Given the description of an element on the screen output the (x, y) to click on. 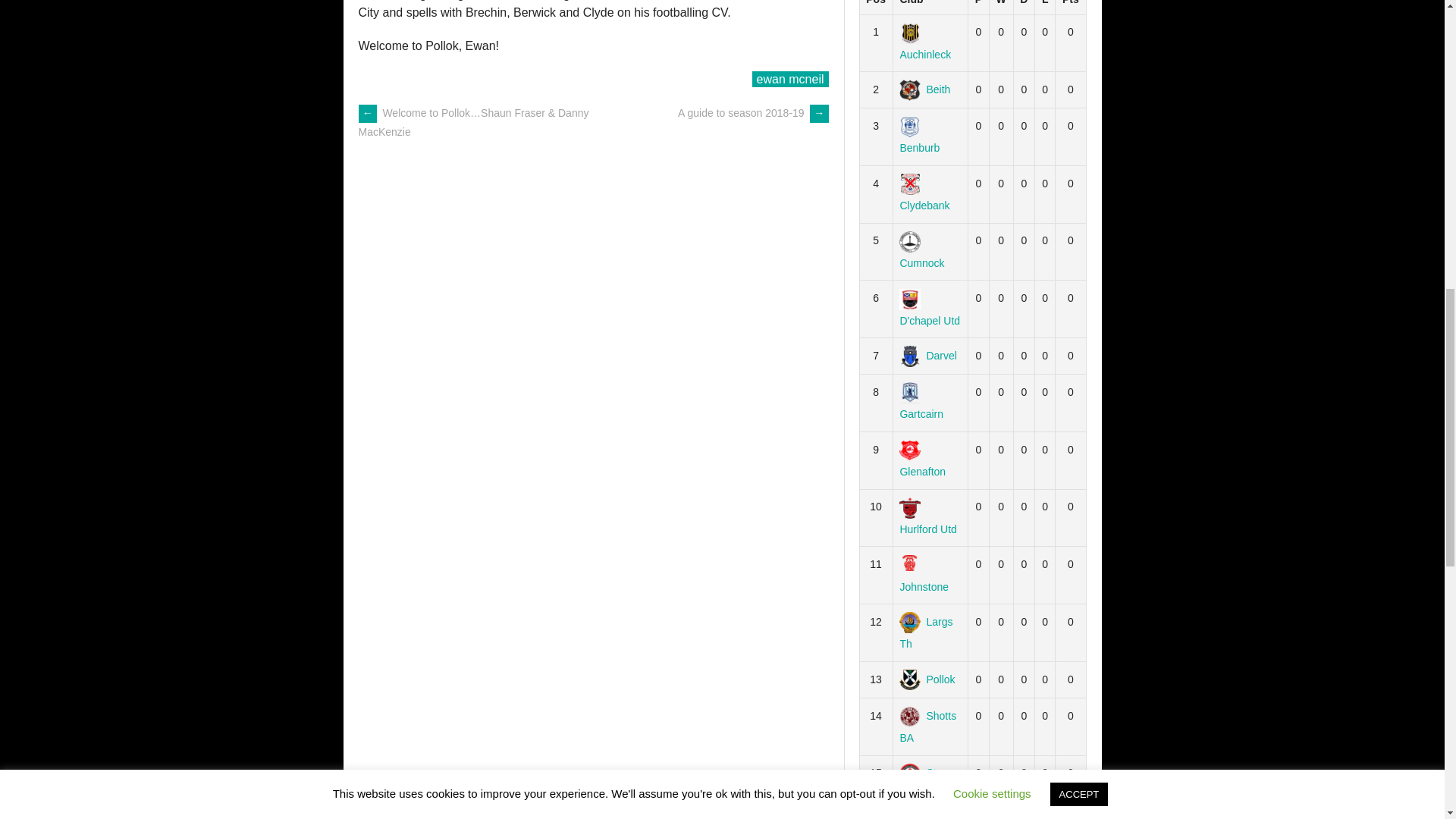
ewan mcneil (790, 78)
